Given the description of an element on the screen output the (x, y) to click on. 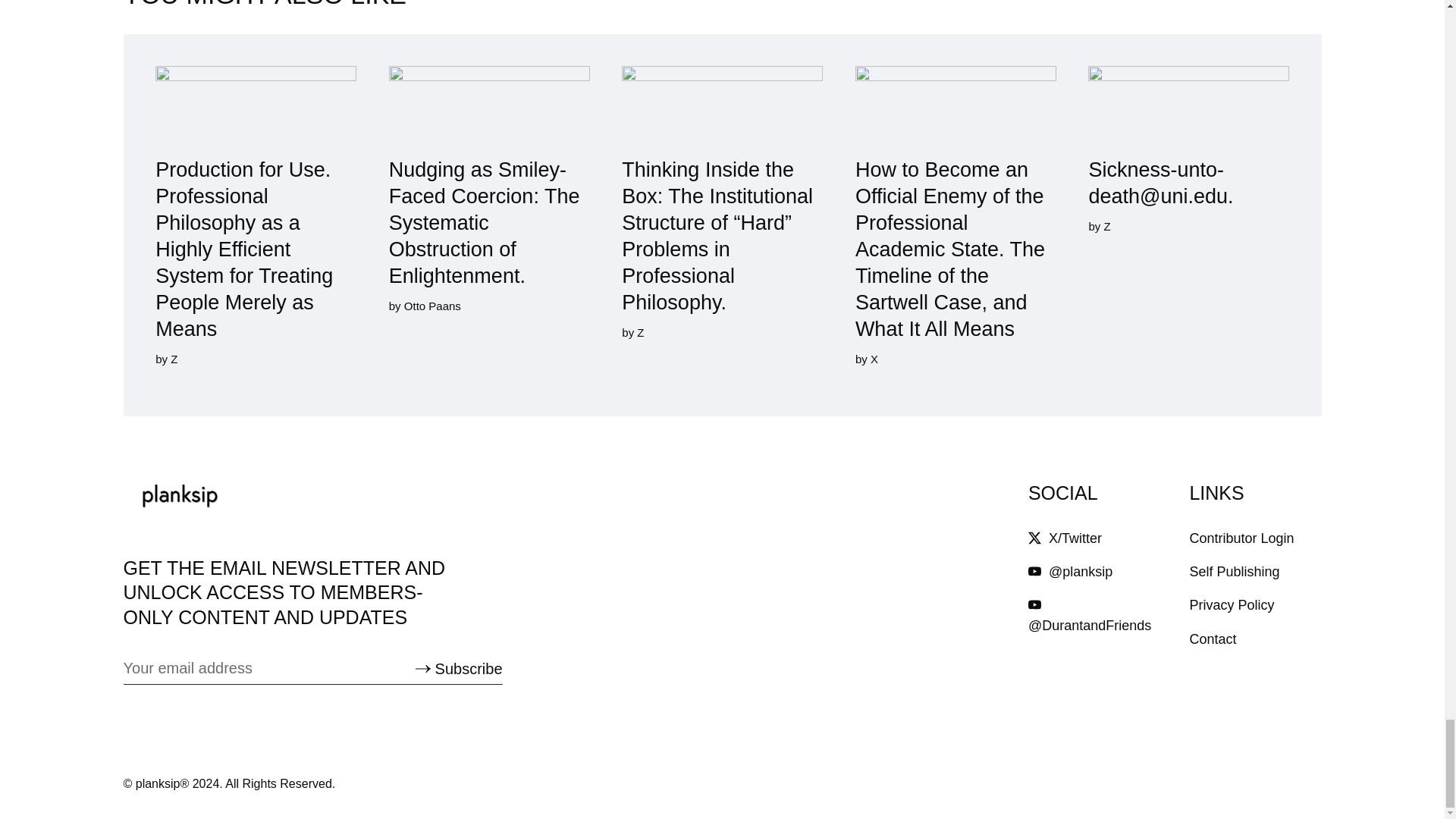
Otto Paans (431, 305)
Subscribe (458, 668)
